Given the description of an element on the screen output the (x, y) to click on. 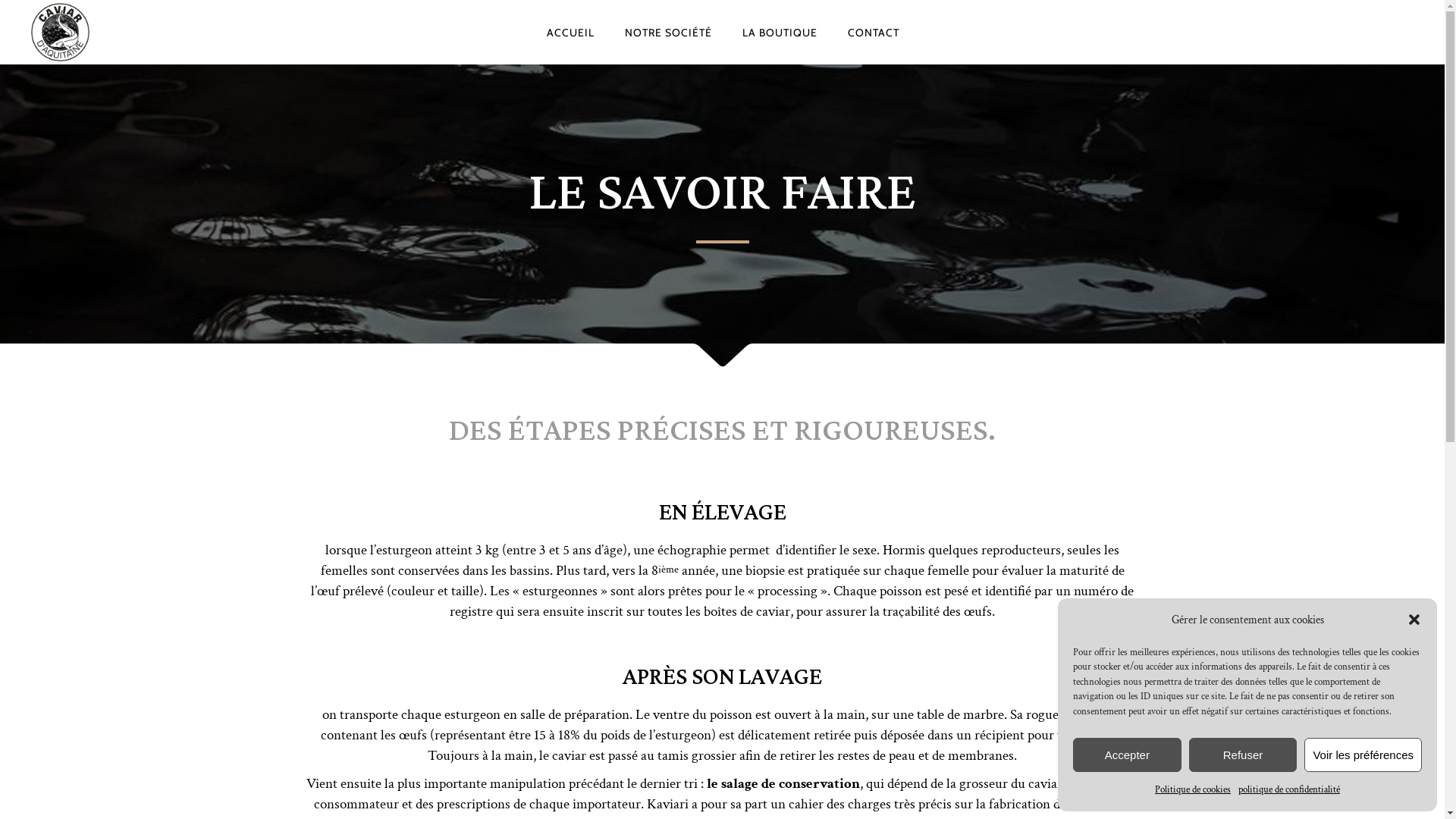
Politique de cookies Element type: text (1192, 789)
CONTACT Element type: text (873, 32)
LA BOUTIQUE Element type: text (778, 32)
ACCUEIL Element type: text (569, 32)
Refuser Element type: text (1243, 754)
Accepter Element type: text (1127, 754)
